Given the description of an element on the screen output the (x, y) to click on. 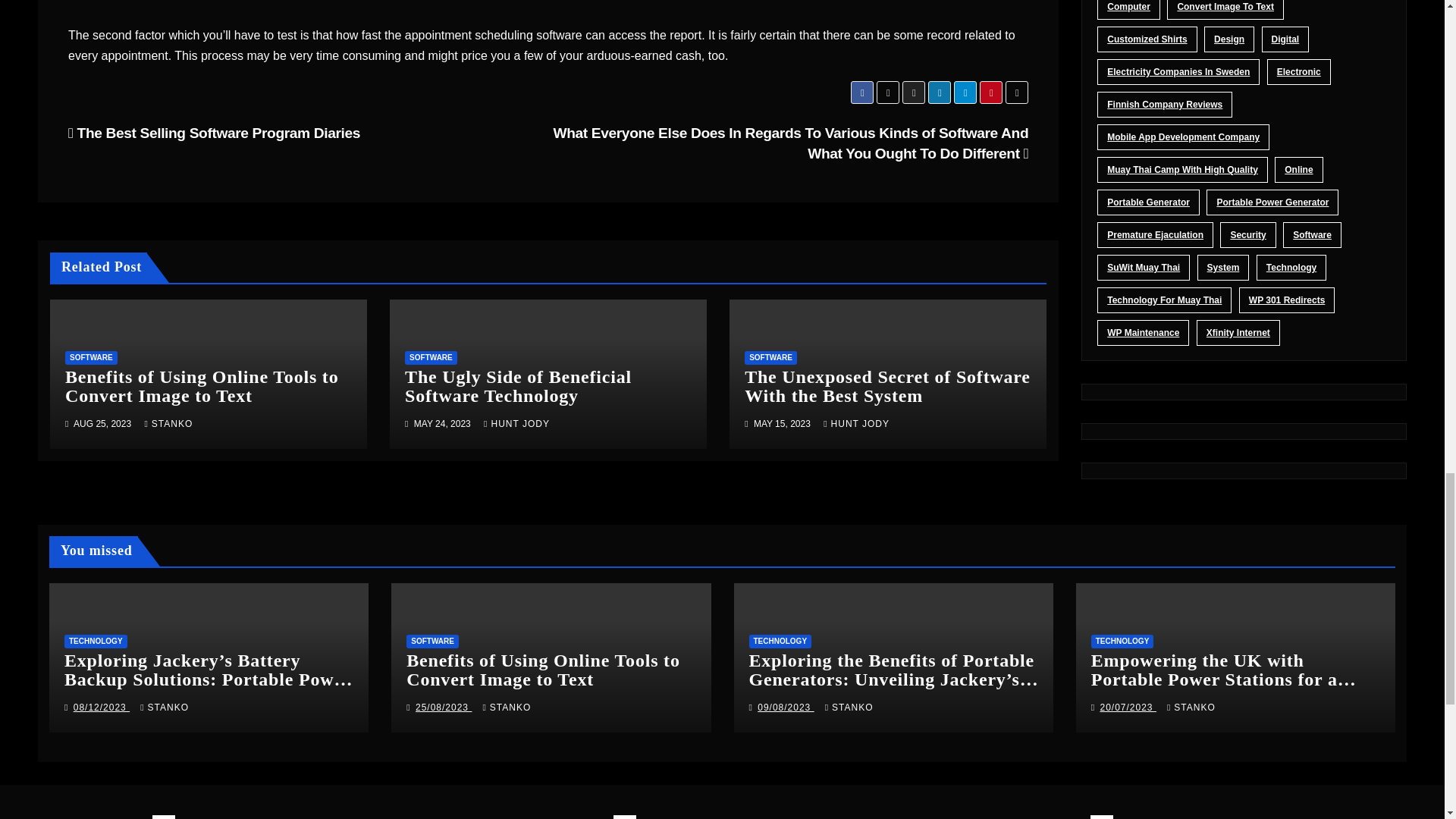
SOFTWARE (91, 357)
STANKO (168, 423)
Benefits of Using Online Tools to Convert Image to Text (201, 385)
The Best Selling Software Program Diaries (213, 132)
SOFTWARE (430, 357)
The Ugly Side of Beneficial Software Technology (517, 385)
